Given the description of an element on the screen output the (x, y) to click on. 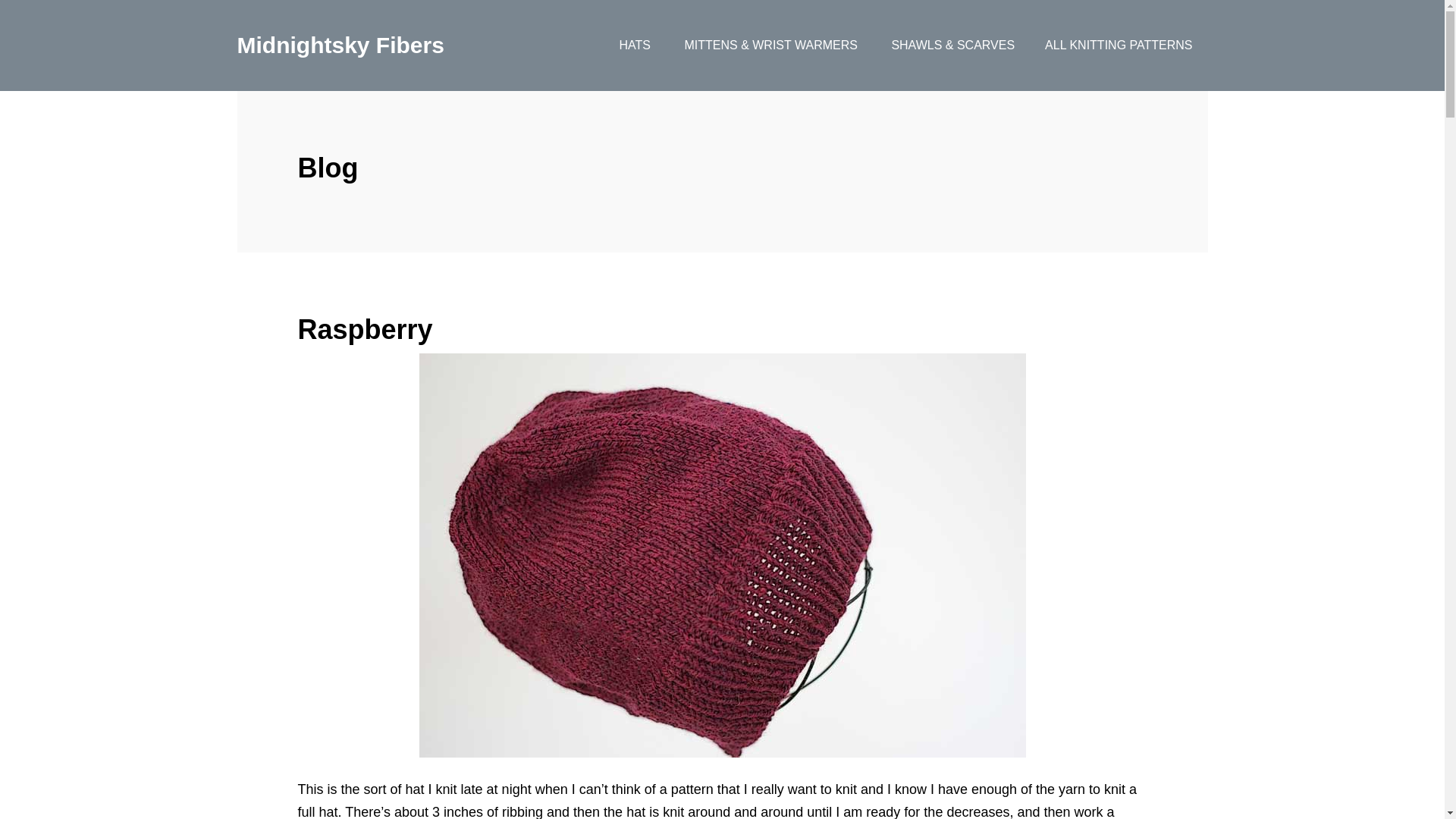
Raspberry (364, 328)
Midnightsky Fibers (339, 44)
ALL KNITTING PATTERNS (1118, 45)
